Given the description of an element on the screen output the (x, y) to click on. 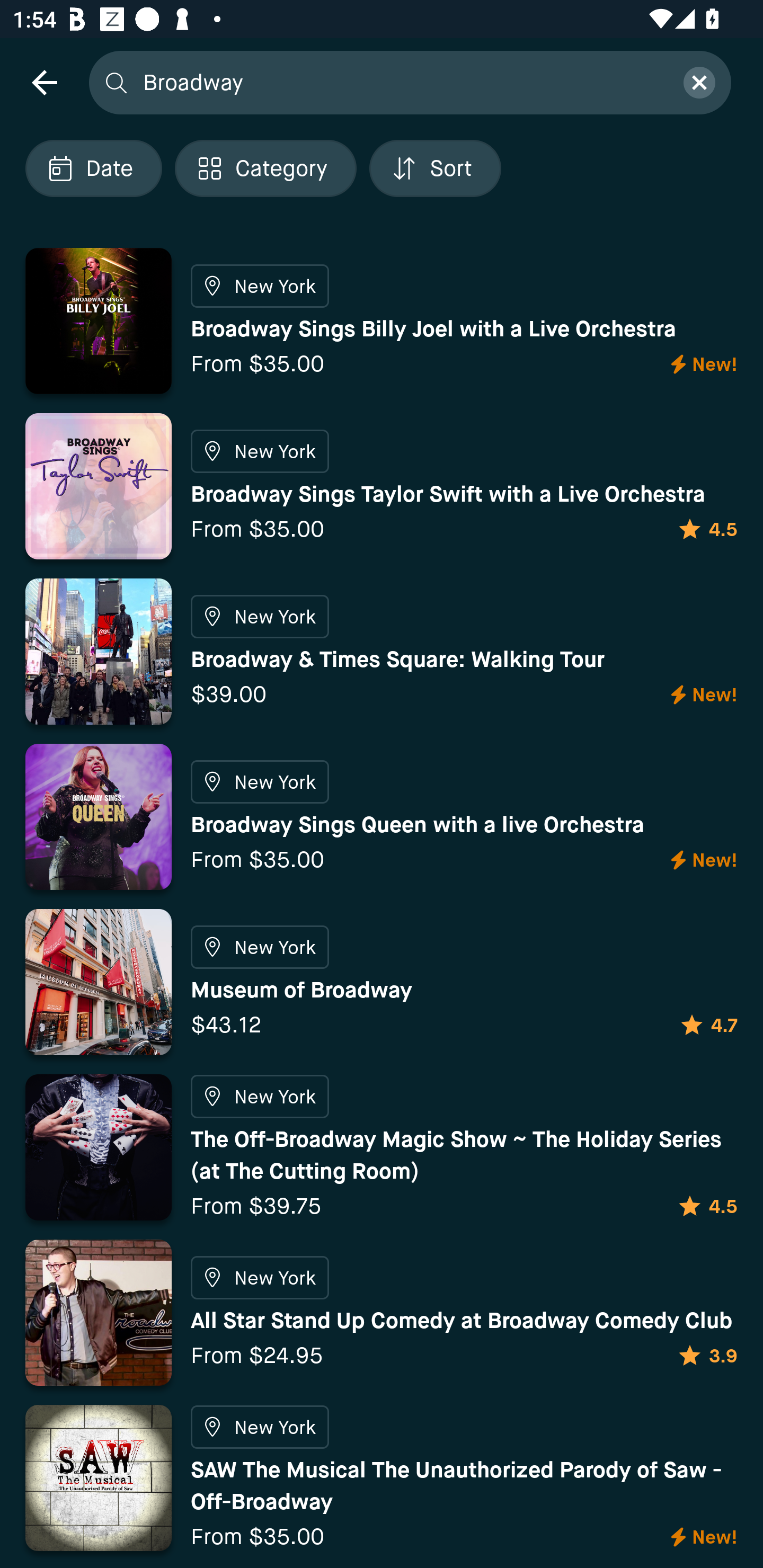
navigation icon (44, 81)
Broadway (402, 81)
Localized description Date (93, 168)
Localized description Category (265, 168)
Localized description Sort (435, 168)
